Given the description of an element on the screen output the (x, y) to click on. 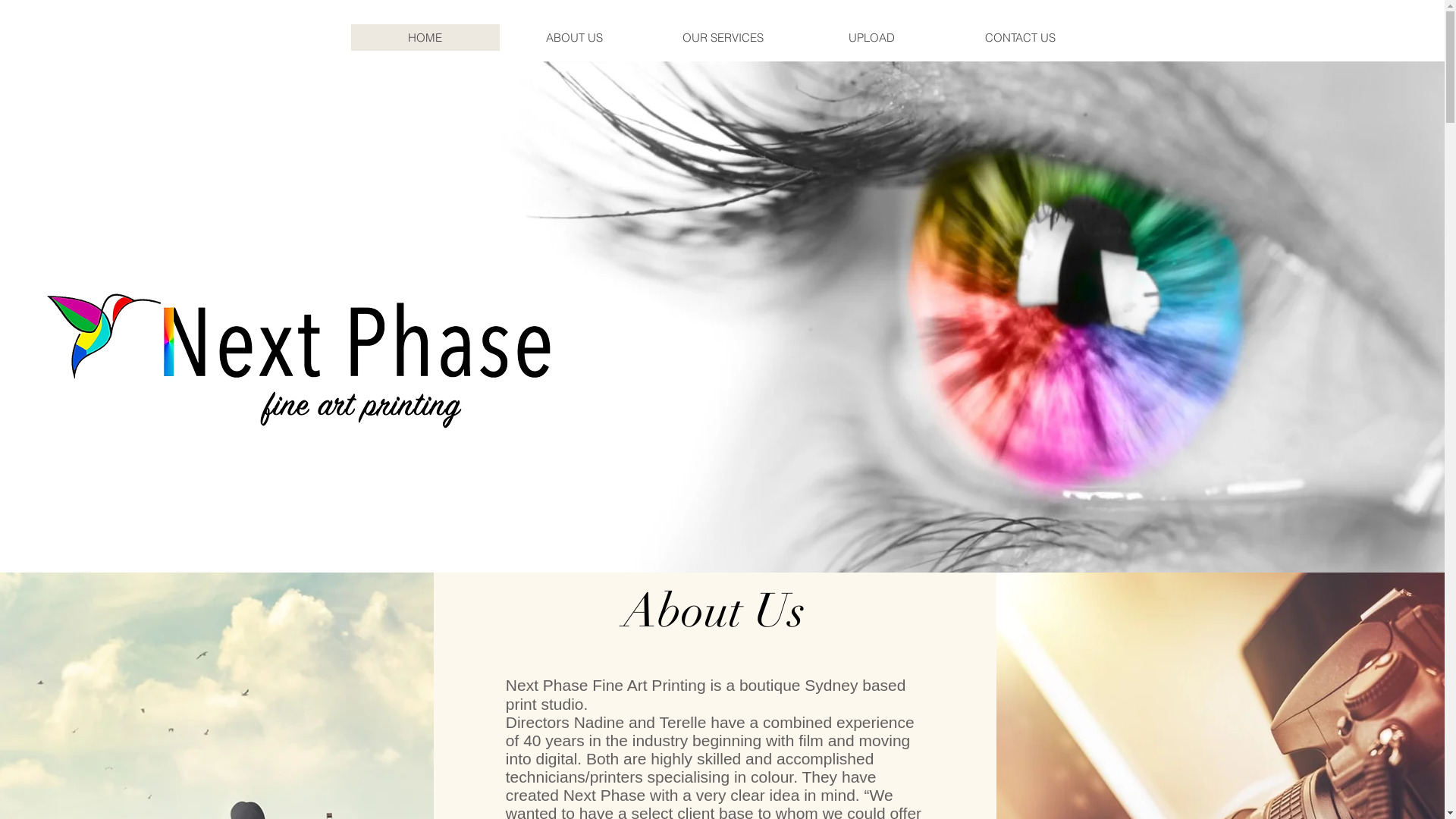
OUR SERVICES Element type: text (721, 37)
ABOUT US Element type: text (572, 37)
CONTACT US Element type: text (1018, 37)
UPLOAD Element type: text (870, 37)
HOME Element type: text (424, 37)
